Given the description of an element on the screen output the (x, y) to click on. 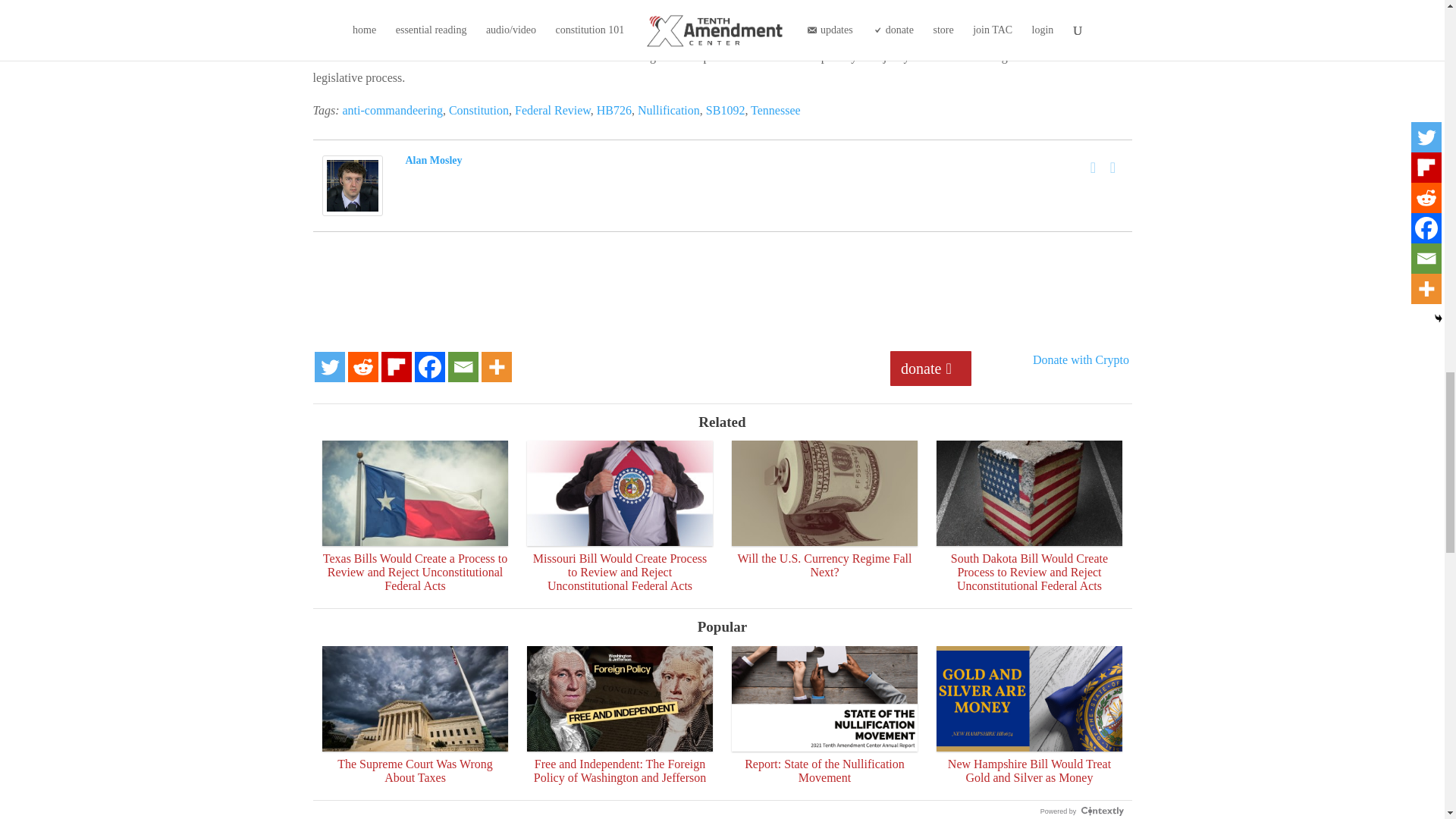
Alan Mosley (351, 205)
Twitter (1112, 167)
Facebook (1093, 167)
Twitter (328, 367)
